Given the description of an element on the screen output the (x, y) to click on. 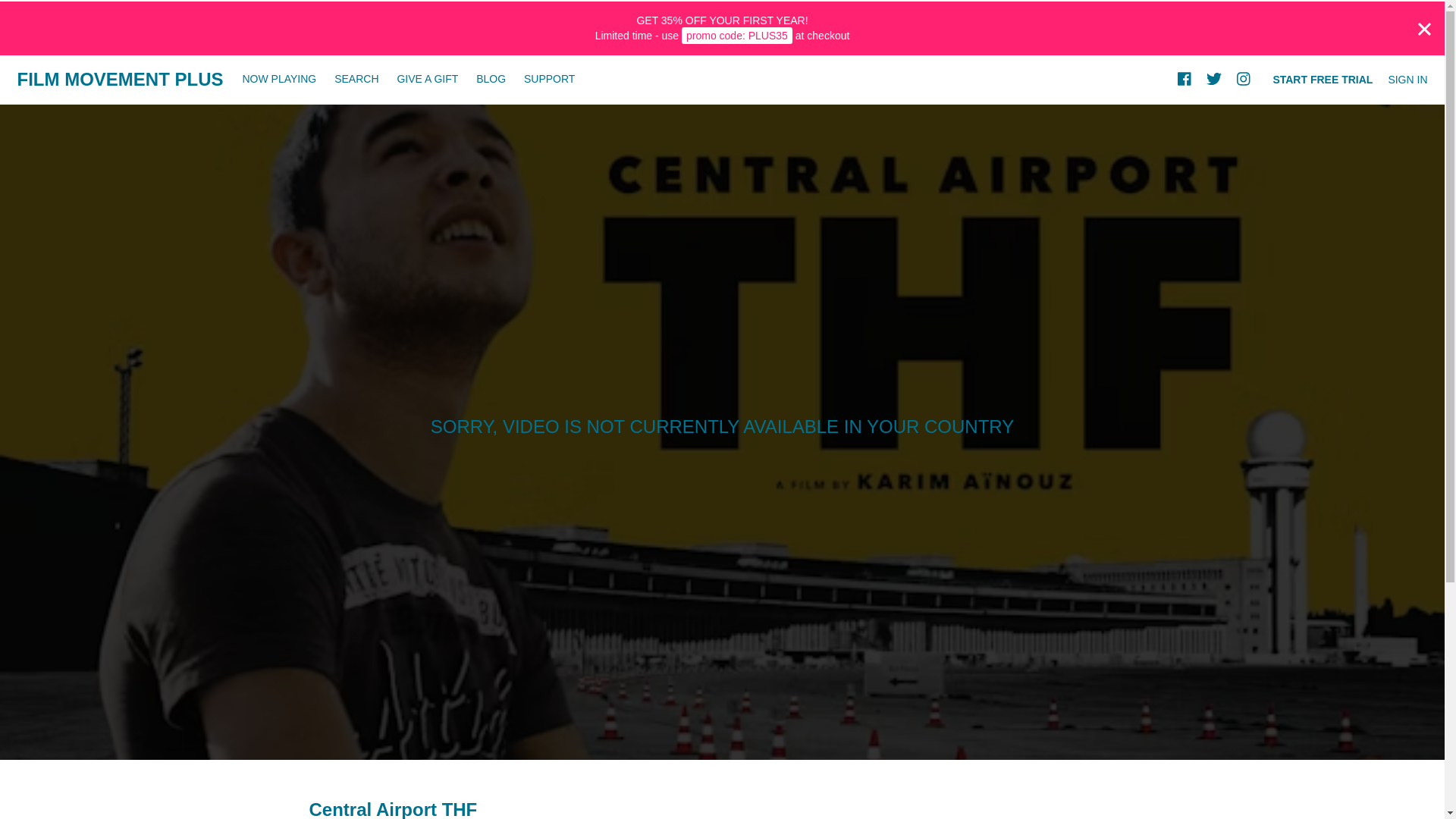
SEARCH (357, 78)
GIVE A GIFT (426, 78)
NOW PLAYING (279, 78)
START FREE TRIAL (1322, 79)
SIGN IN (1406, 79)
BLOG (490, 78)
FILM MOVEMENT PLUS (119, 78)
Skip to main content (48, 7)
SUPPORT (549, 78)
